Given the description of an element on the screen output the (x, y) to click on. 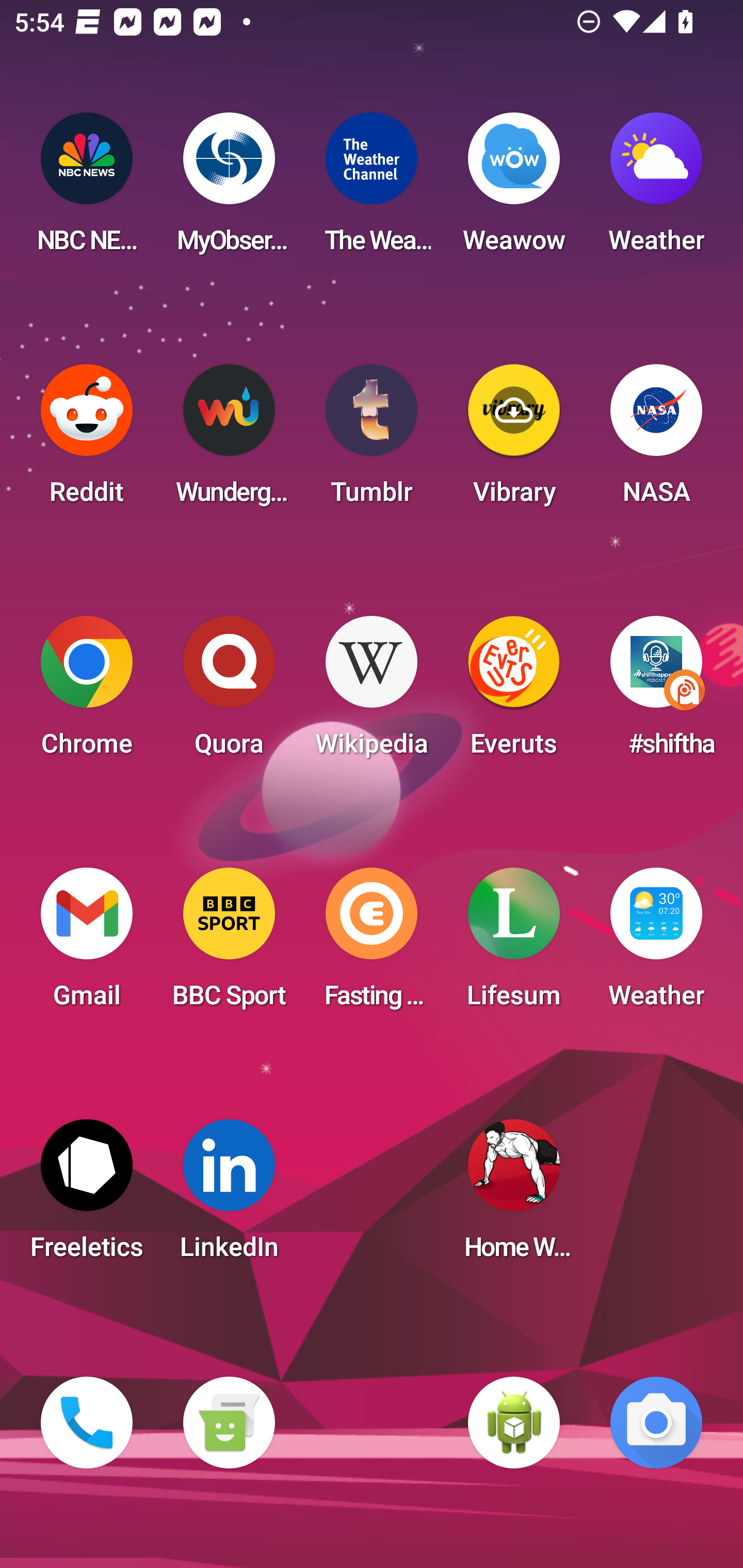
NBC NEWS (86, 188)
MyObservatory (228, 188)
The Weather Channel (371, 188)
Weawow (513, 188)
Weather (656, 188)
Reddit (86, 440)
Wunderground (228, 440)
Tumblr (371, 440)
Vibrary (513, 440)
NASA (656, 440)
Chrome (86, 692)
Quora (228, 692)
Wikipedia (371, 692)
Everuts (513, 692)
#shifthappens in the Digital Workplace Podcast (656, 692)
Gmail (86, 943)
BBC Sport (228, 943)
Fasting Coach (371, 943)
Lifesum (513, 943)
Weather (656, 943)
Freeletics (86, 1195)
LinkedIn (228, 1195)
Home Workout (513, 1195)
Phone (86, 1422)
Messaging (228, 1422)
WebView Browser Tester (513, 1422)
Camera (656, 1422)
